Given the description of an element on the screen output the (x, y) to click on. 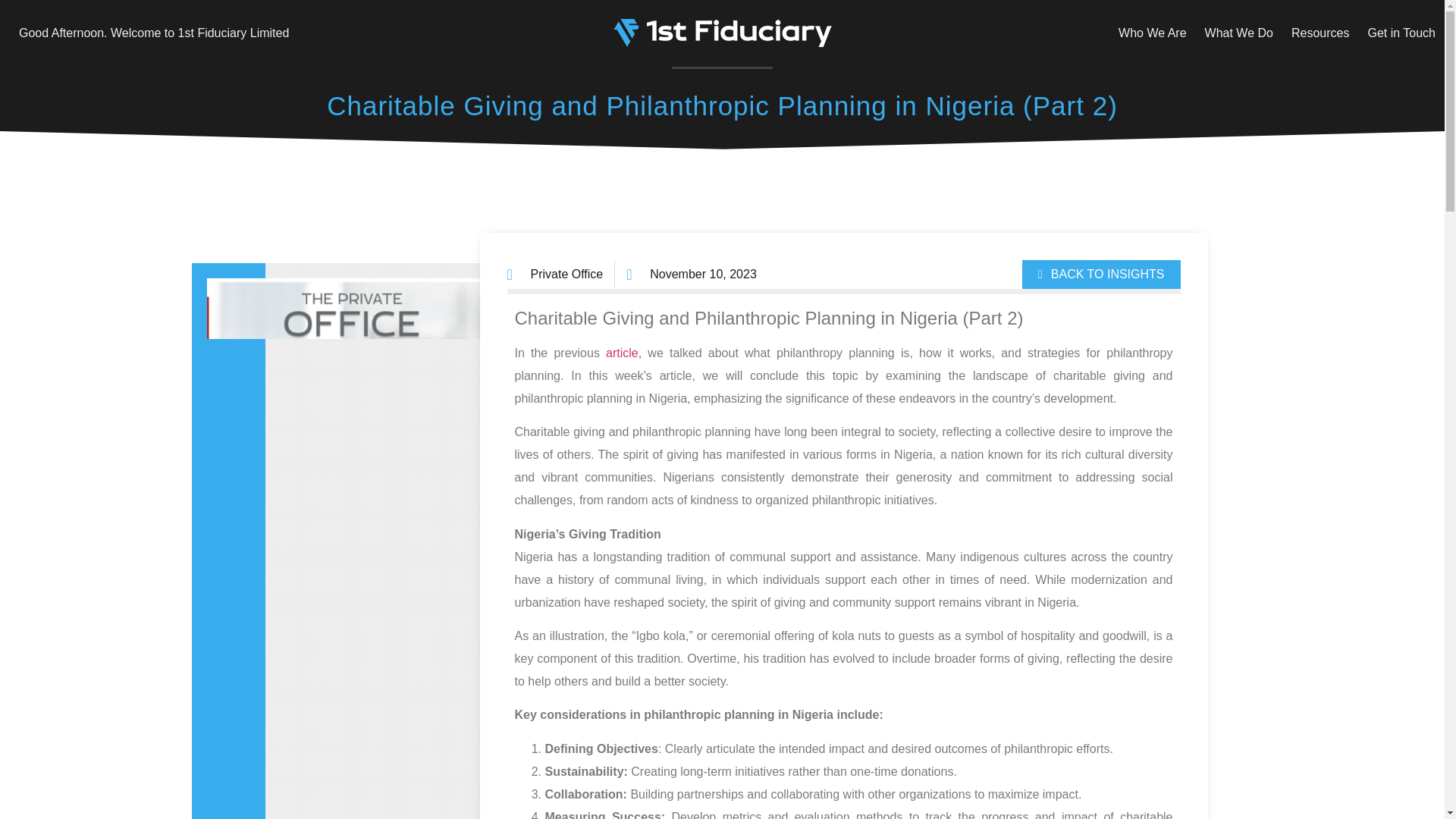
article, (623, 352)
What We Do (1238, 32)
Who We Are (1152, 32)
November 10, 2023 (691, 274)
Private Office (567, 273)
Resources (1320, 32)
BACK TO INSIGHTS (1101, 274)
